Given the description of an element on the screen output the (x, y) to click on. 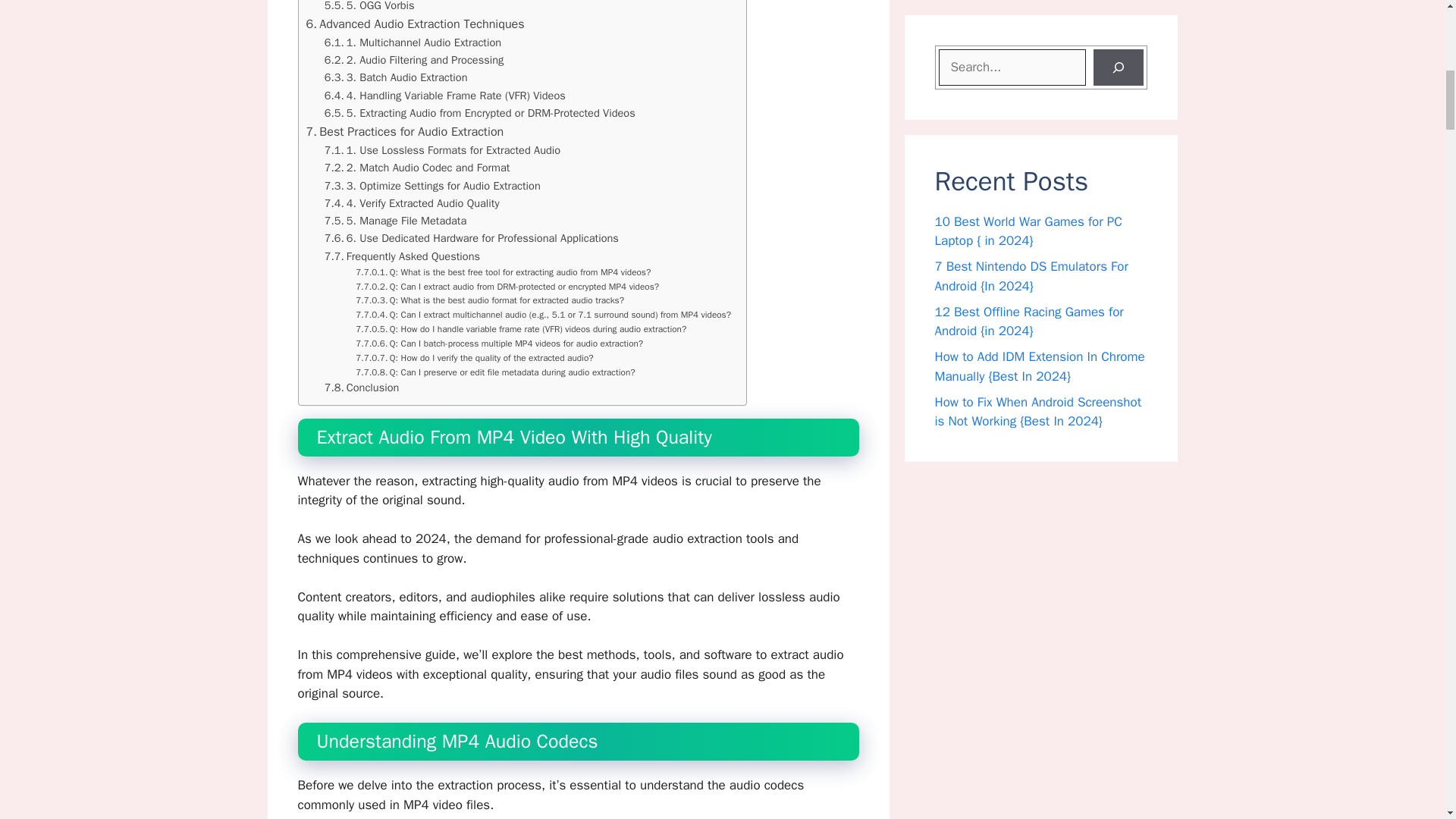
Advanced Audio Extraction Techniques (414, 24)
3. Batch Audio Extraction (395, 77)
2. Audio Filtering and Processing (413, 59)
5. OGG Vorbis (369, 7)
5. Extracting Audio from Encrypted or DRM-Protected Videos (479, 113)
5. Manage File Metadata (395, 221)
3. Optimize Settings for Audio Extraction (432, 185)
4. Verify Extracted Audio Quality (411, 203)
1. Use Lossless Formats for Extracted Audio (442, 149)
2. Match Audio Codec and Format (417, 167)
6. Use Dedicated Hardware for Professional Applications (471, 238)
Best Practices for Audio Extraction (404, 131)
1. Multichannel Audio Extraction (412, 42)
